Given the description of an element on the screen output the (x, y) to click on. 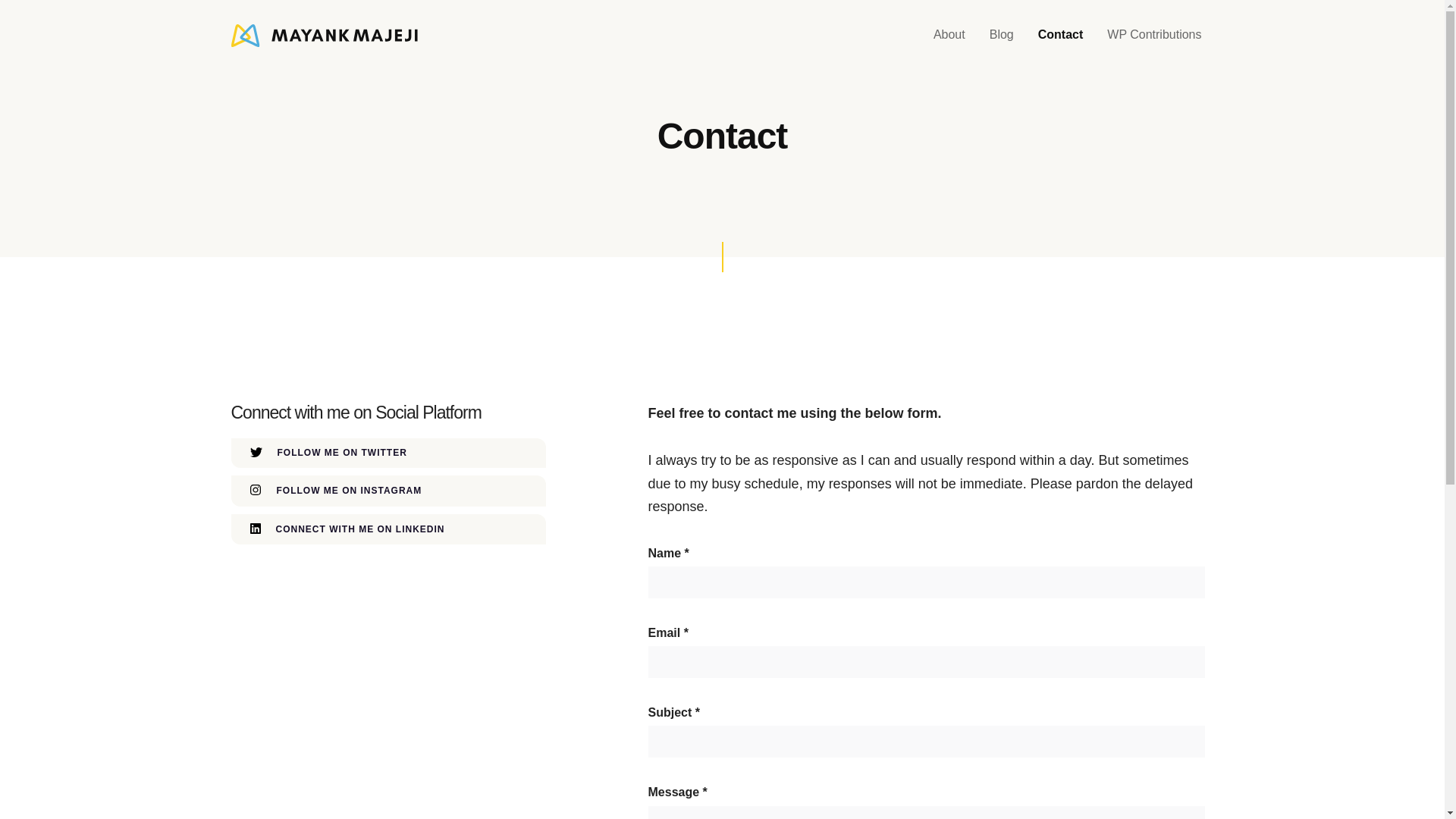
FOLLOW ME ON INSTAGRAM (388, 490)
FOLLOW ME ON TWITTER (388, 452)
About (948, 34)
Blog (1001, 34)
CONNECT WITH ME ON LINKEDIN (388, 529)
Contact (1061, 34)
WP Contributions (1153, 34)
